Given the description of an element on the screen output the (x, y) to click on. 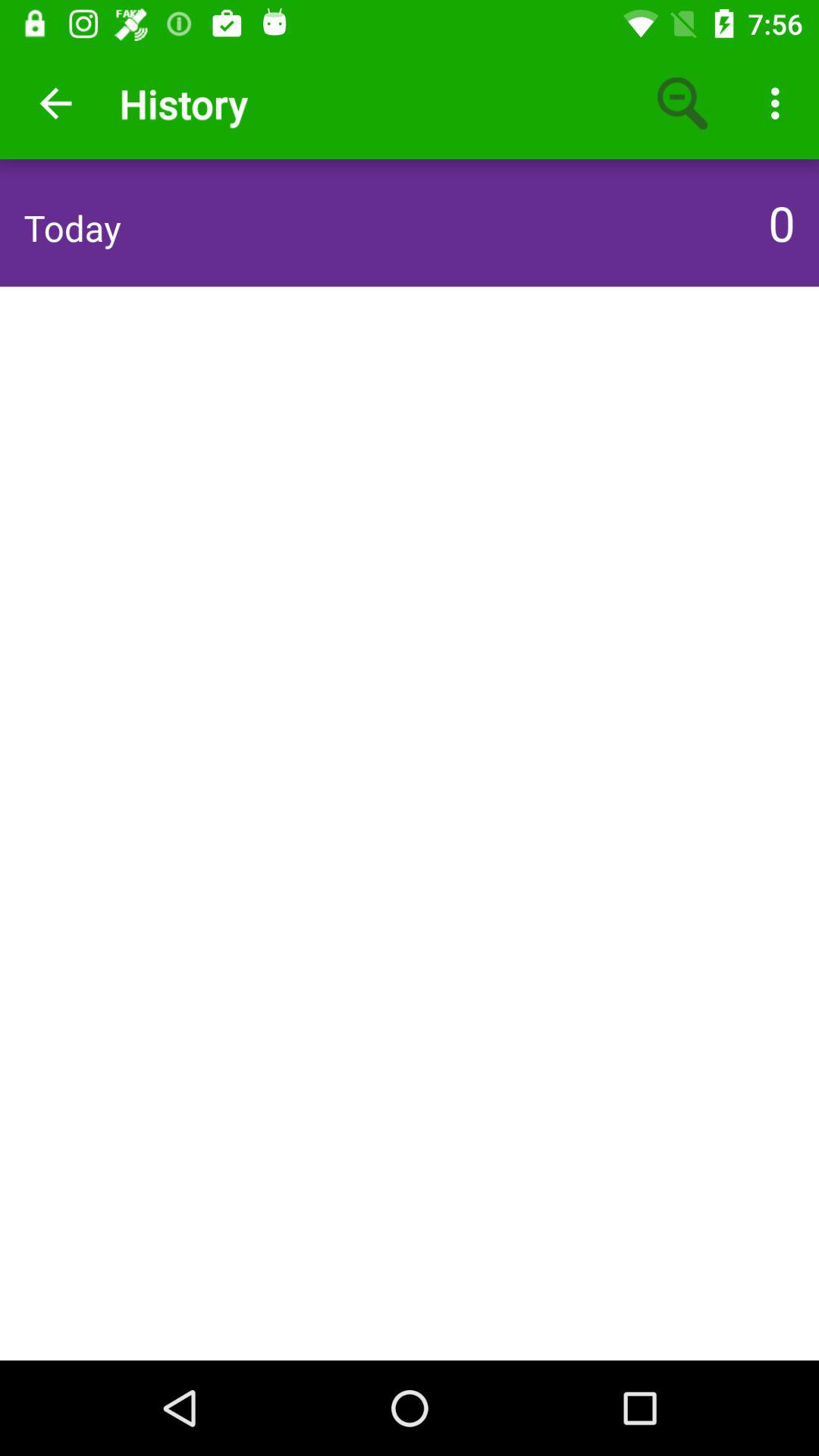
launch icon above the 0 item (779, 103)
